Given the description of an element on the screen output the (x, y) to click on. 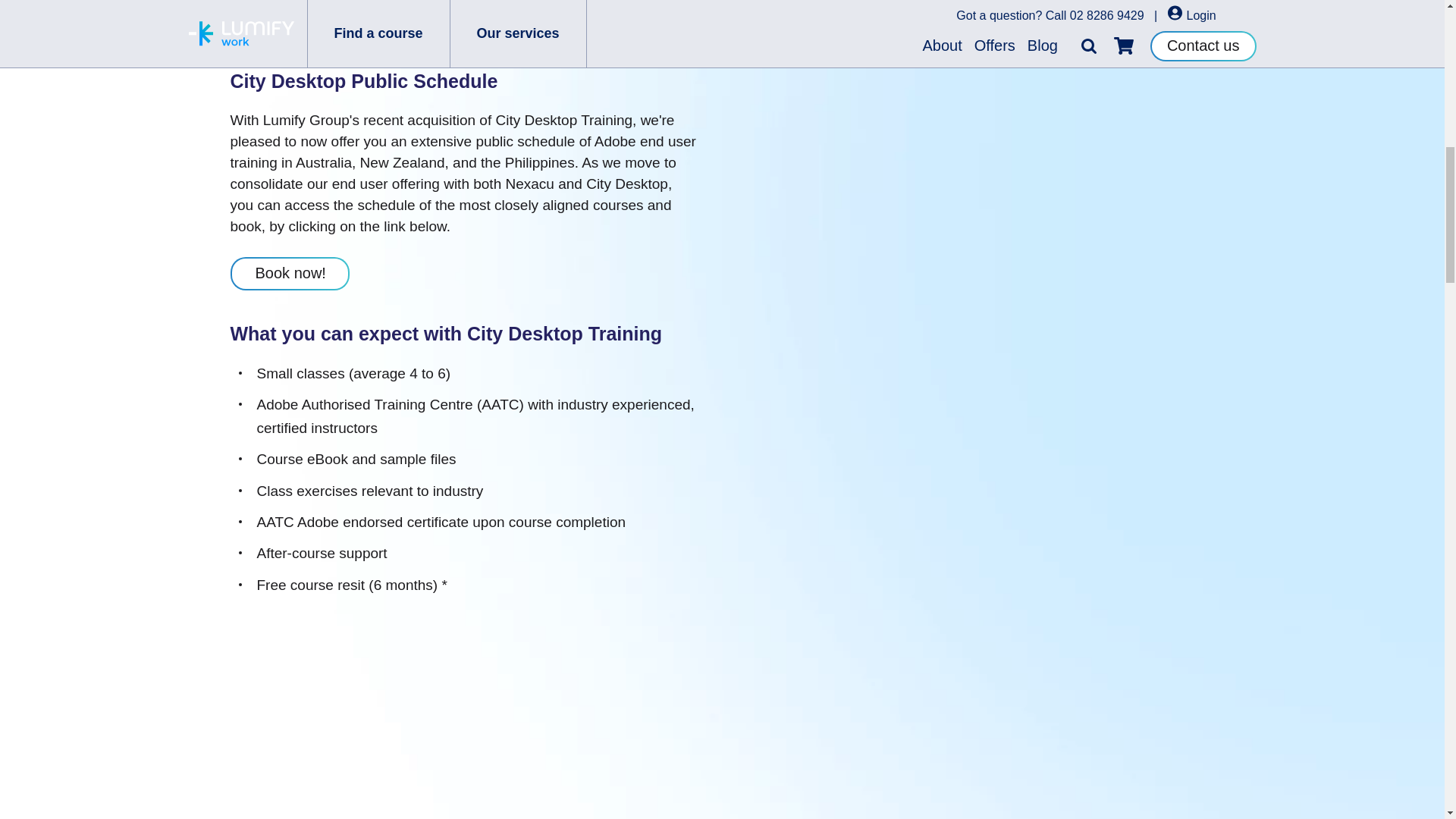
Book now! (289, 273)
